Given the description of an element on the screen output the (x, y) to click on. 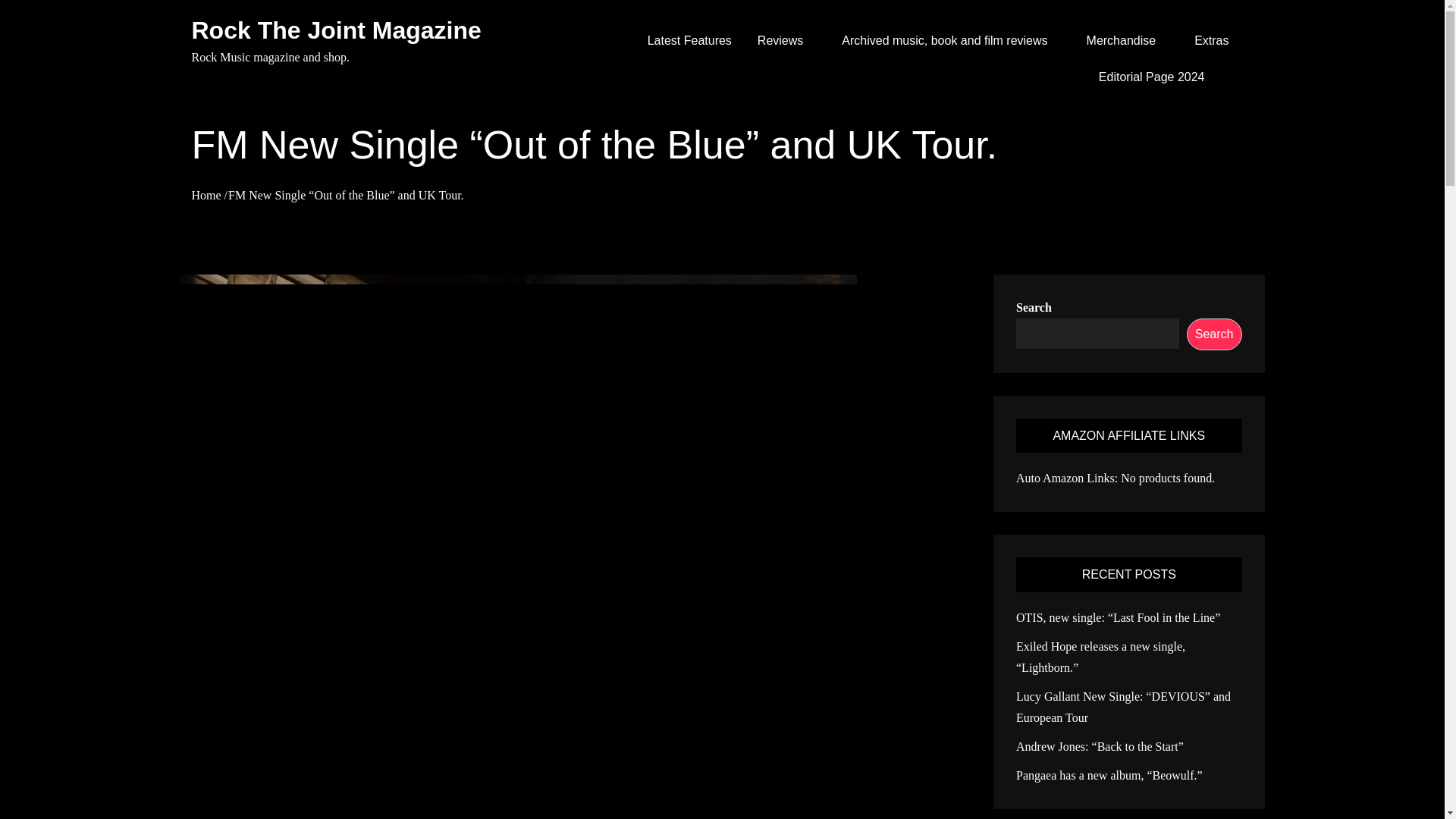
Rock The Joint Magazine (335, 30)
Archived music, book and film reviews (950, 40)
Extras (1217, 40)
Latest Features (689, 40)
Reviews (786, 40)
Merchandise (1127, 40)
Editorial Page 2024 (1152, 76)
Home (205, 195)
